Given the description of an element on the screen output the (x, y) to click on. 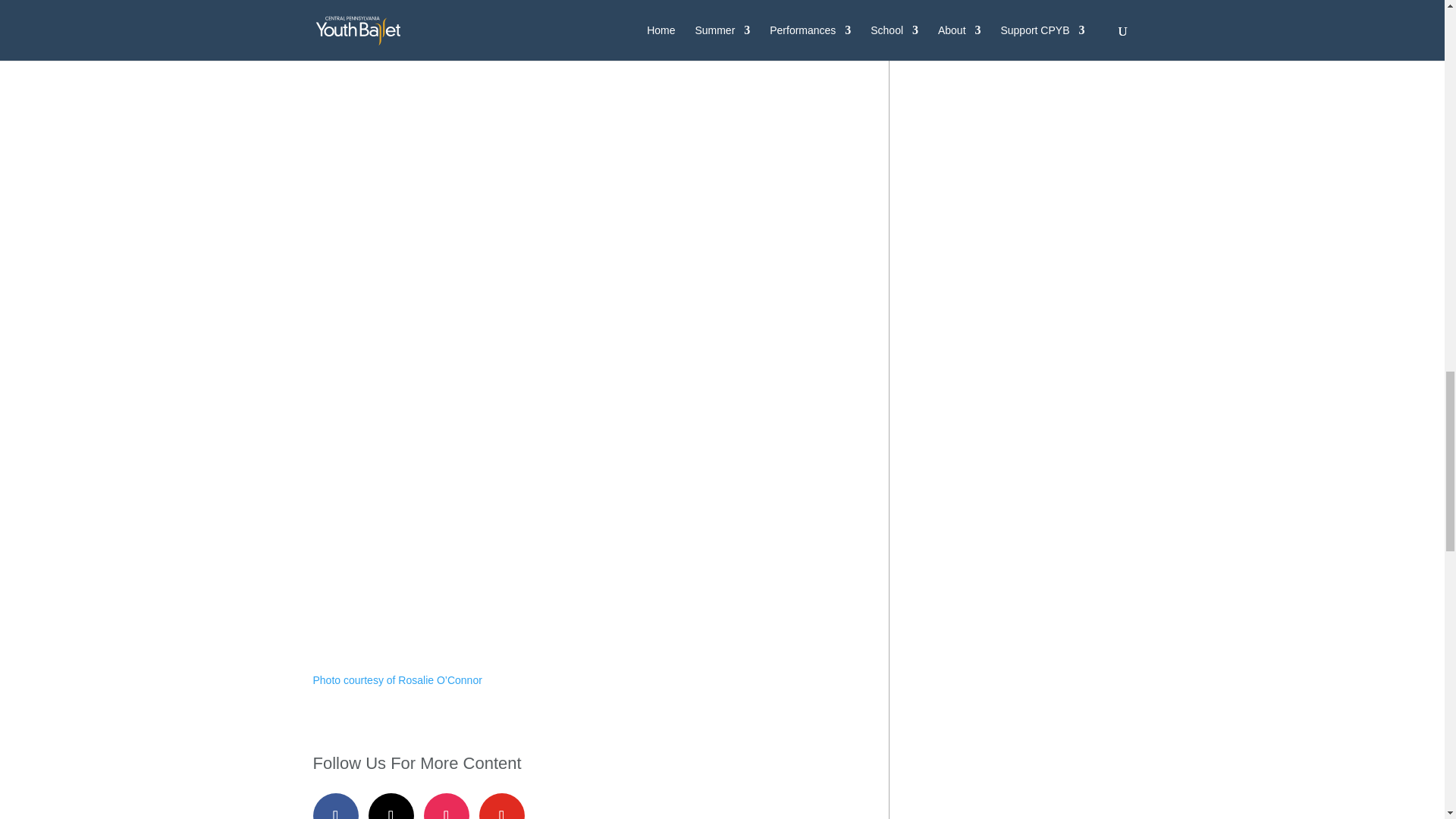
Follow on Facebook (335, 806)
Follow on Instagram (445, 806)
Follow on X (390, 806)
Follow on Youtube (501, 806)
